Given the description of an element on the screen output the (x, y) to click on. 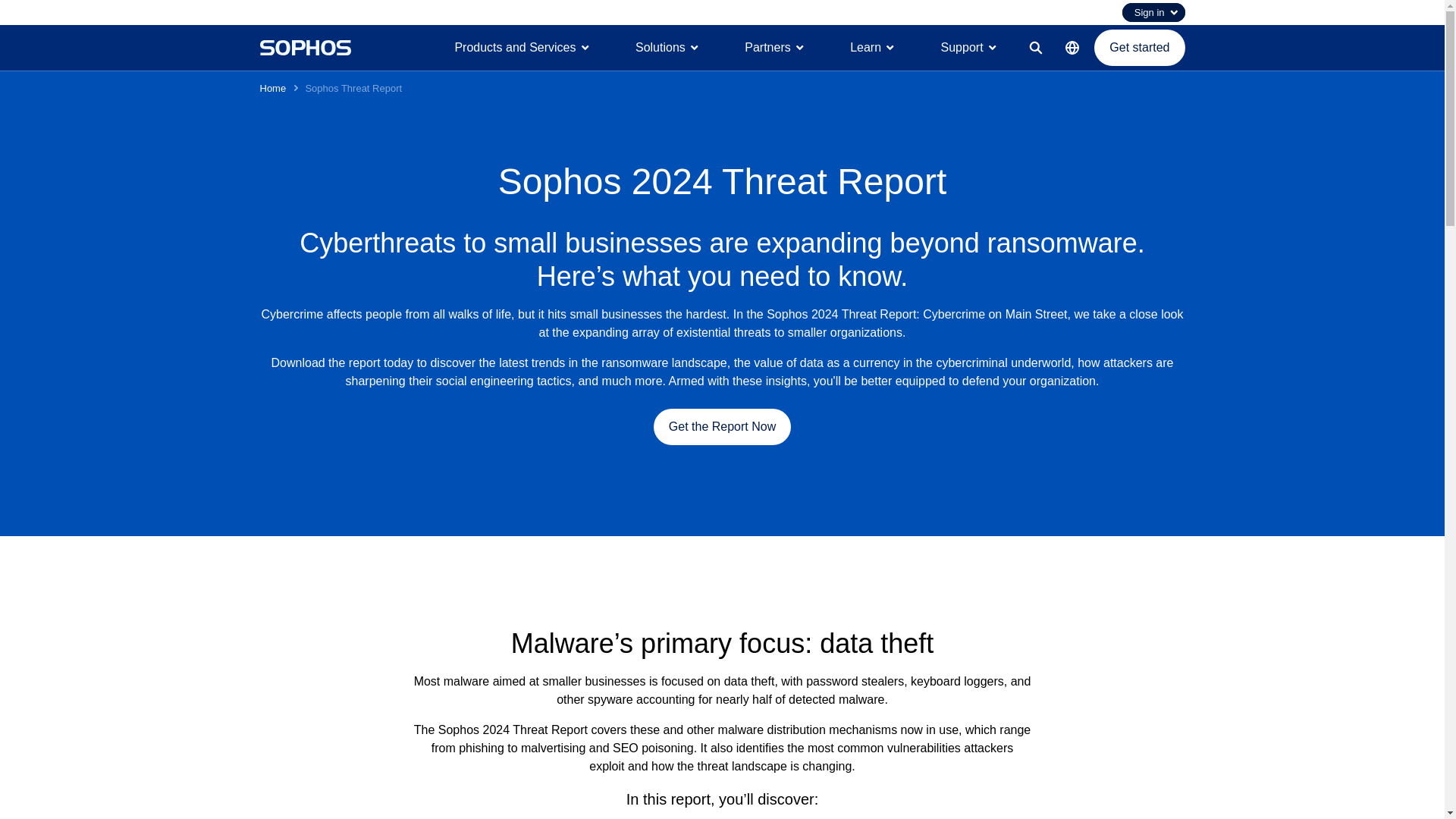
Skip to main content (721, 7)
